Given the description of an element on the screen output the (x, y) to click on. 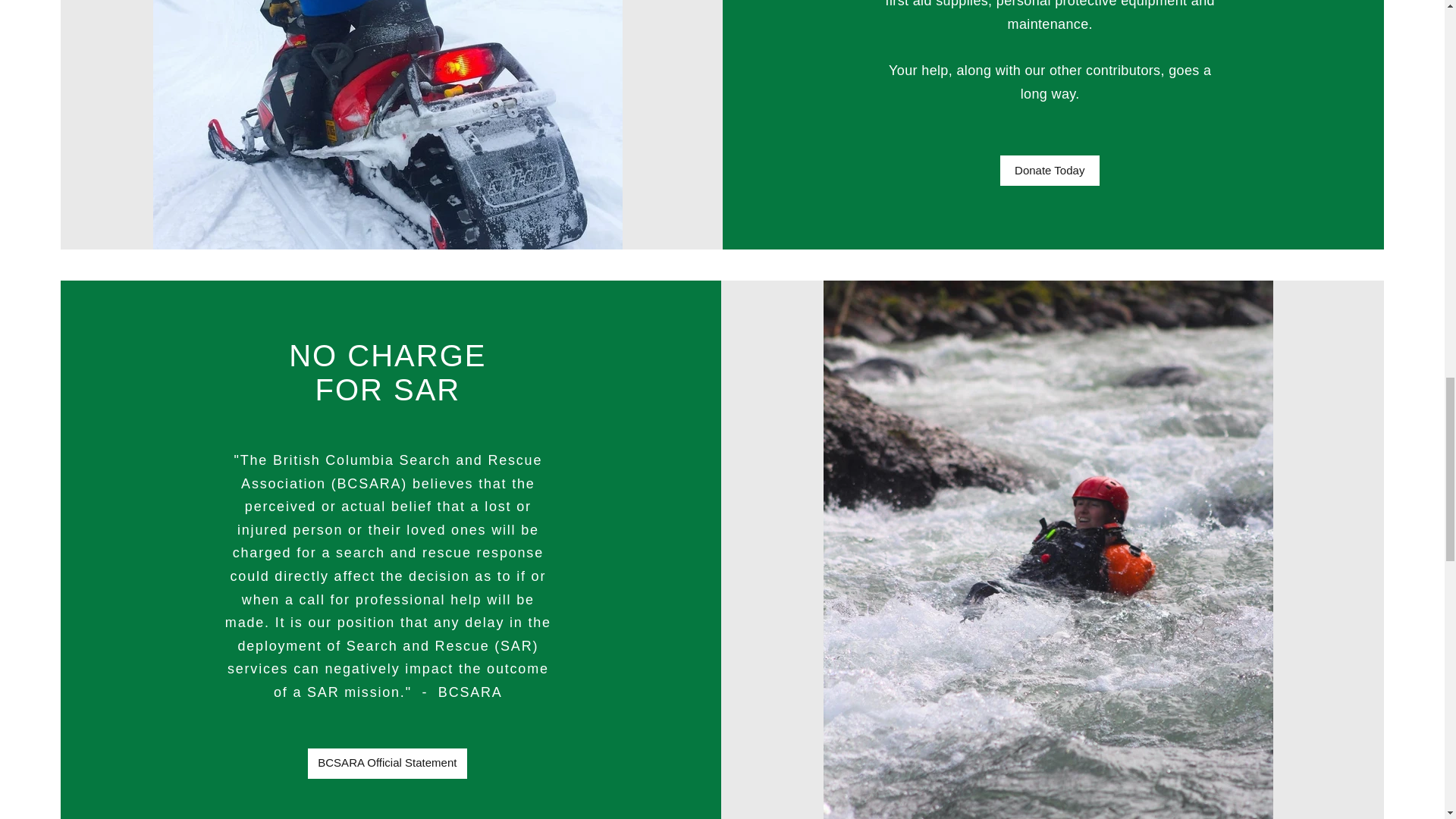
Donate Today (1049, 170)
BCSARA Official Statement (387, 763)
